Given the description of an element on the screen output the (x, y) to click on. 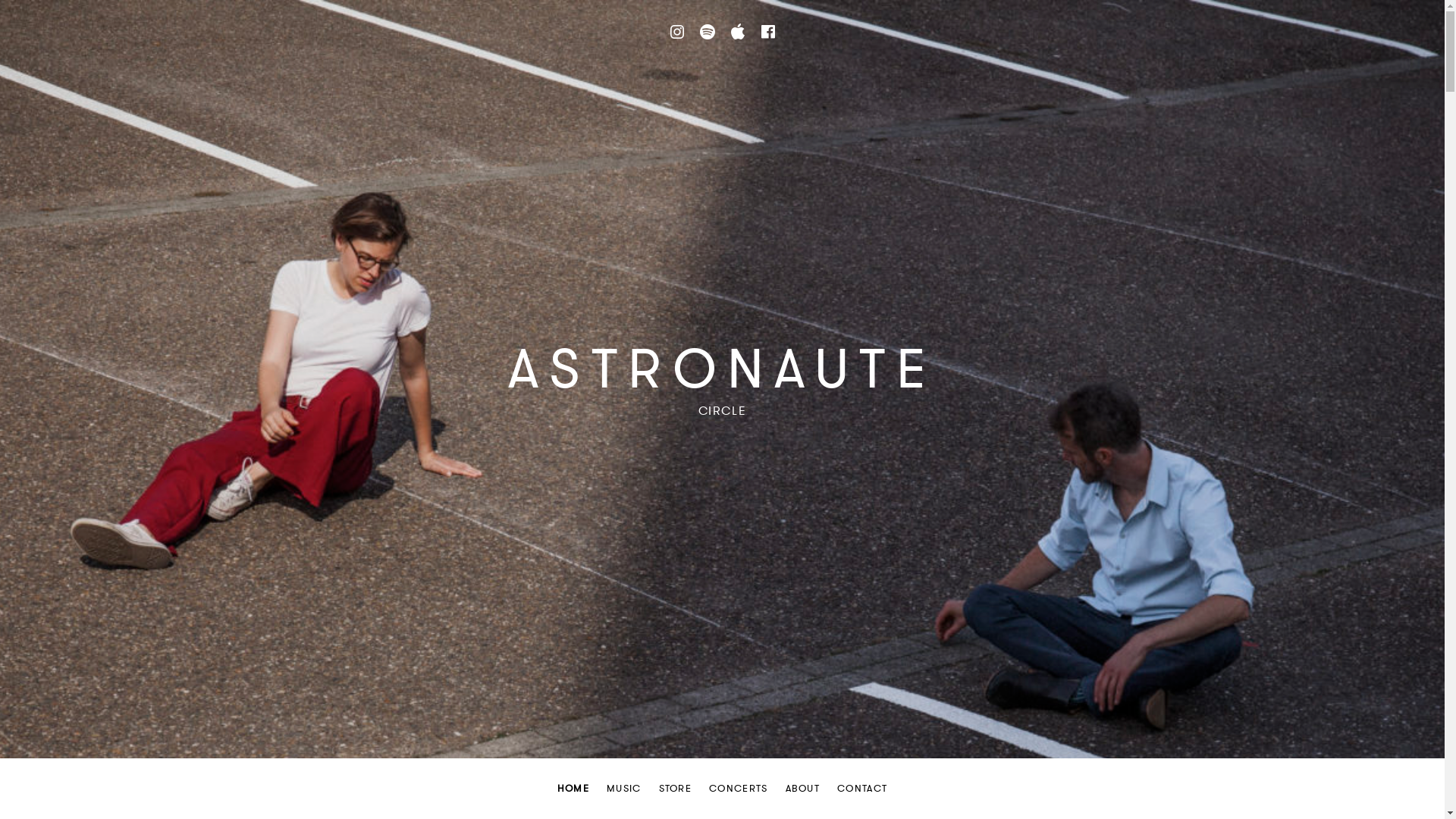
ABOUT Element type: text (803, 788)
CONCERTS Element type: text (738, 788)
Facebook Element type: text (767, 31)
CONTACT Element type: text (861, 788)
MUSIC Element type: text (624, 788)
HOME Element type: text (572, 788)
Instagram Element type: text (676, 31)
iTunes Element type: text (737, 31)
Spotify Element type: text (706, 31)
STORE Element type: text (675, 788)
ASTRONAUTE Element type: text (722, 367)
